Given the description of an element on the screen output the (x, y) to click on. 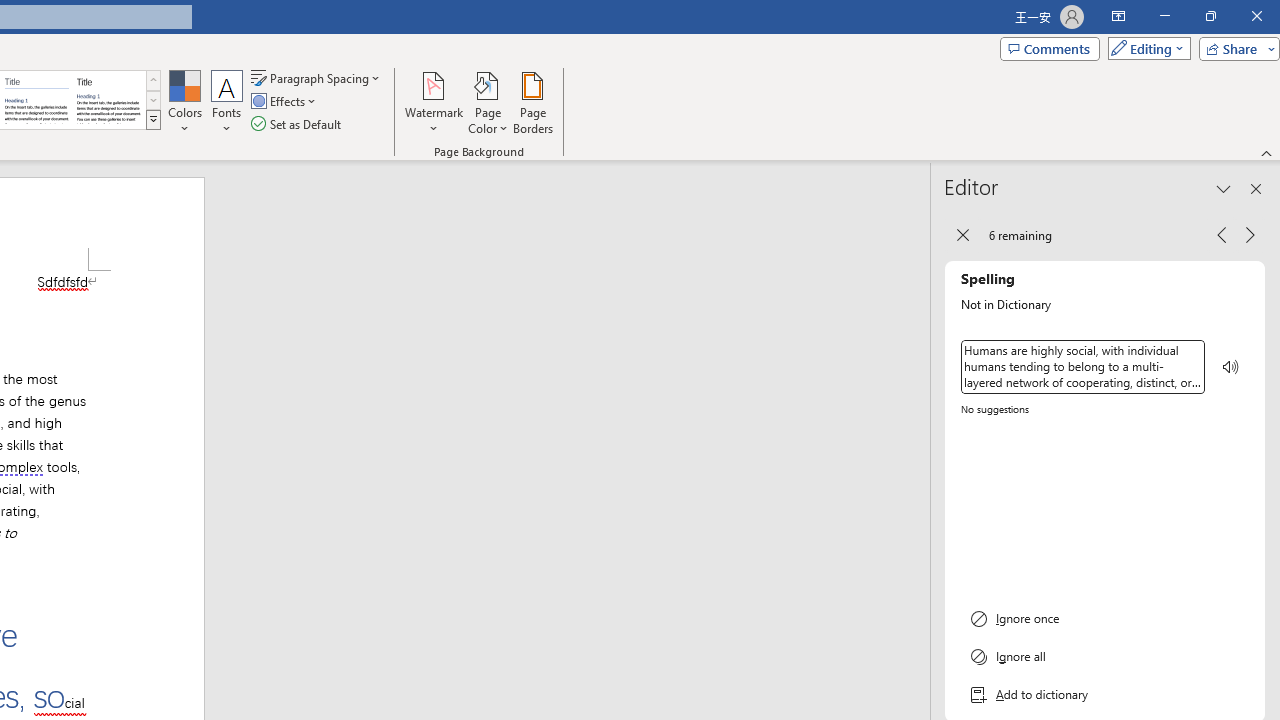
Ignore all (1105, 656)
Colors (184, 102)
Word 2010 (36, 100)
Ignore once (1105, 618)
Set as Default (298, 124)
Next Issue, 6 remaining (1250, 234)
Watermark (434, 102)
Word 2013 (108, 100)
Fonts (227, 102)
